Given the description of an element on the screen output the (x, y) to click on. 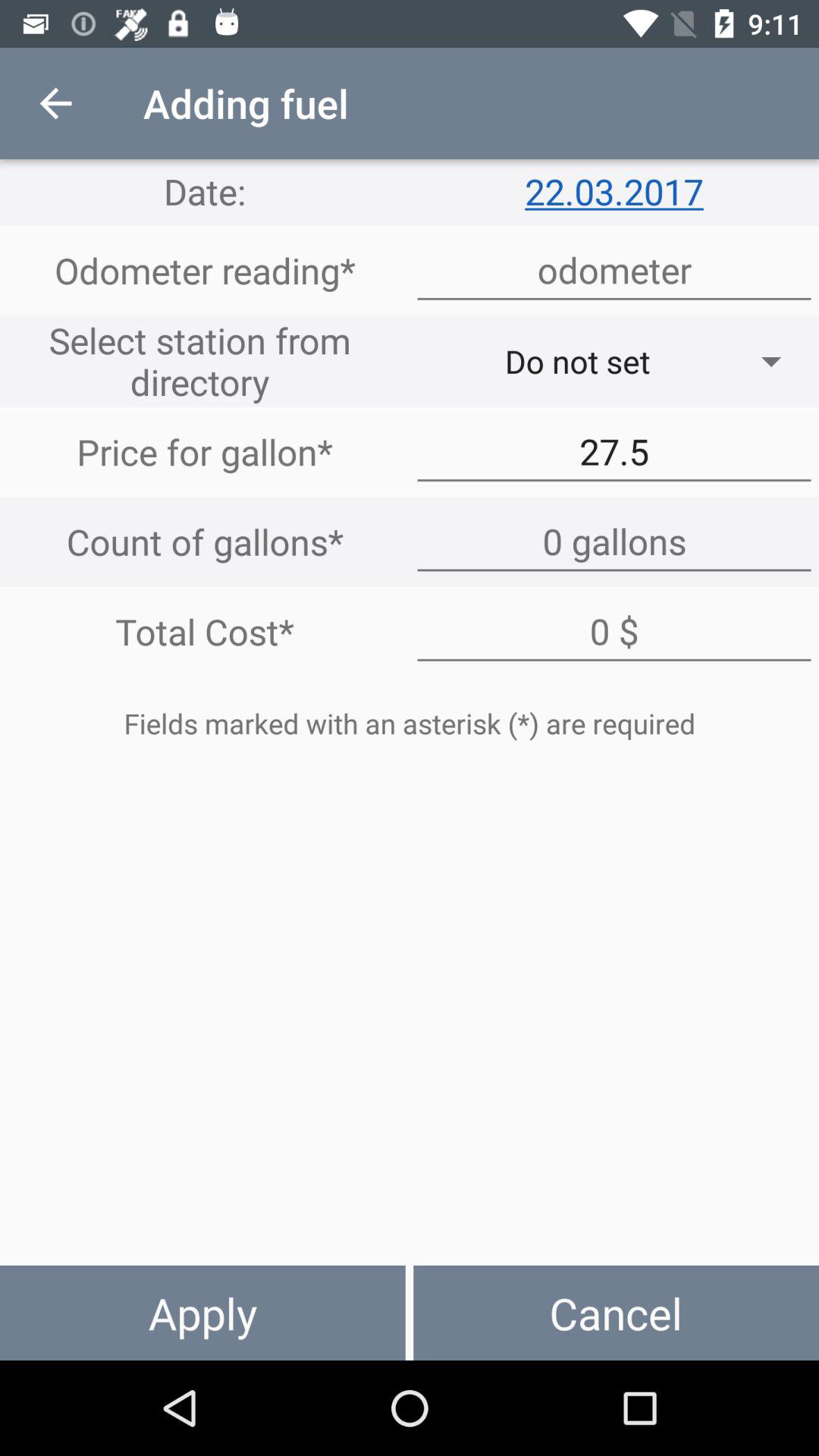
new tap page (614, 541)
